Given the description of an element on the screen output the (x, y) to click on. 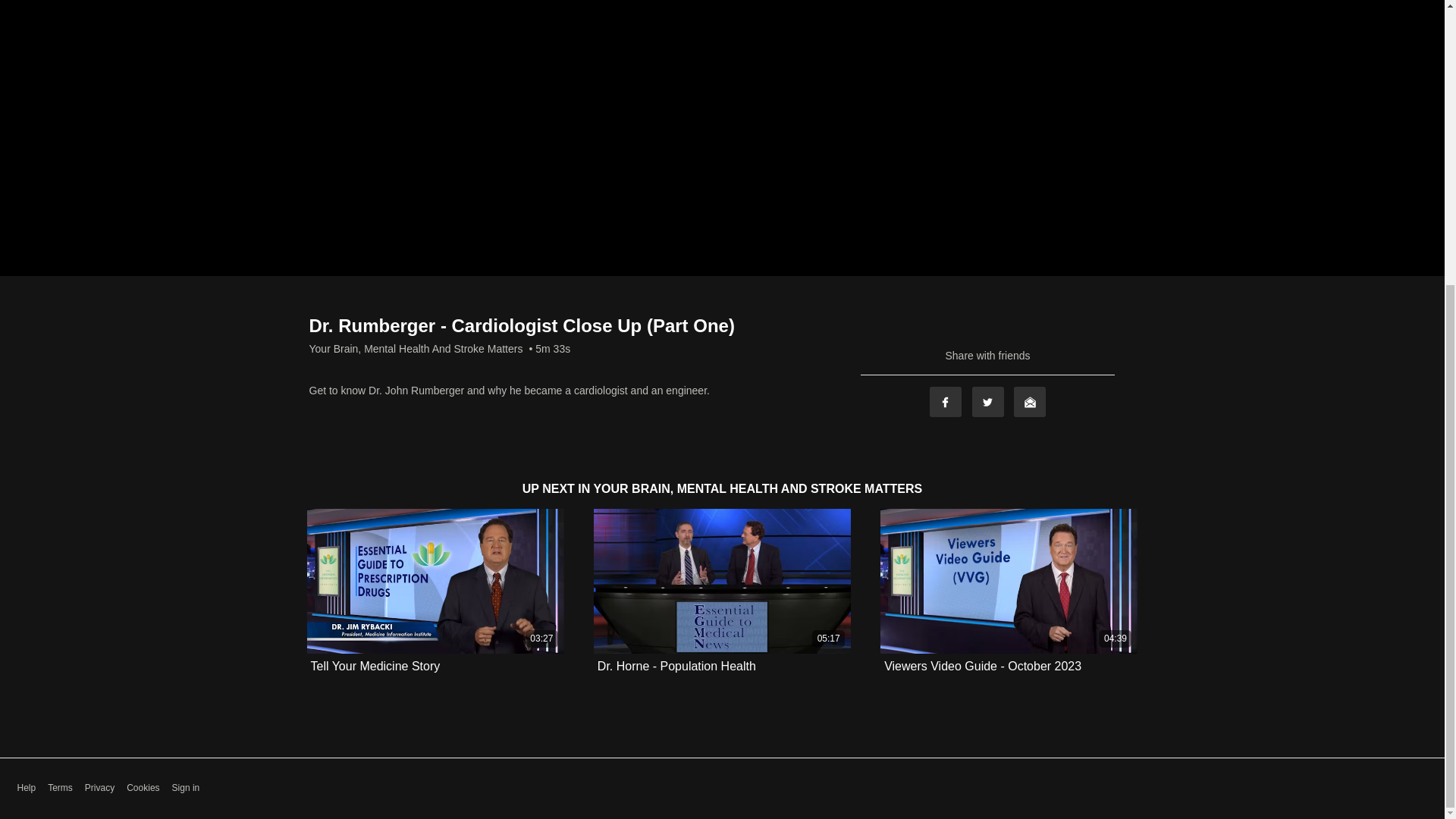
Your Brain, Mental Health And Stroke Matters (415, 348)
Email (1029, 401)
04:39 (1008, 580)
Terms (60, 788)
Viewers Video Guide - October 2023 (982, 666)
Twitter (988, 401)
Viewers Video Guide - October 2023 (982, 666)
Sign in (185, 788)
Dr. Horne - Population Health (675, 666)
Dr. Horne - Population Health (675, 666)
Facebook (945, 401)
05:17 (722, 580)
Cookies (142, 788)
YOUR BRAIN, MENTAL HEALTH AND STROKE MATTERS (756, 488)
03:27 (434, 580)
